Given the description of an element on the screen output the (x, y) to click on. 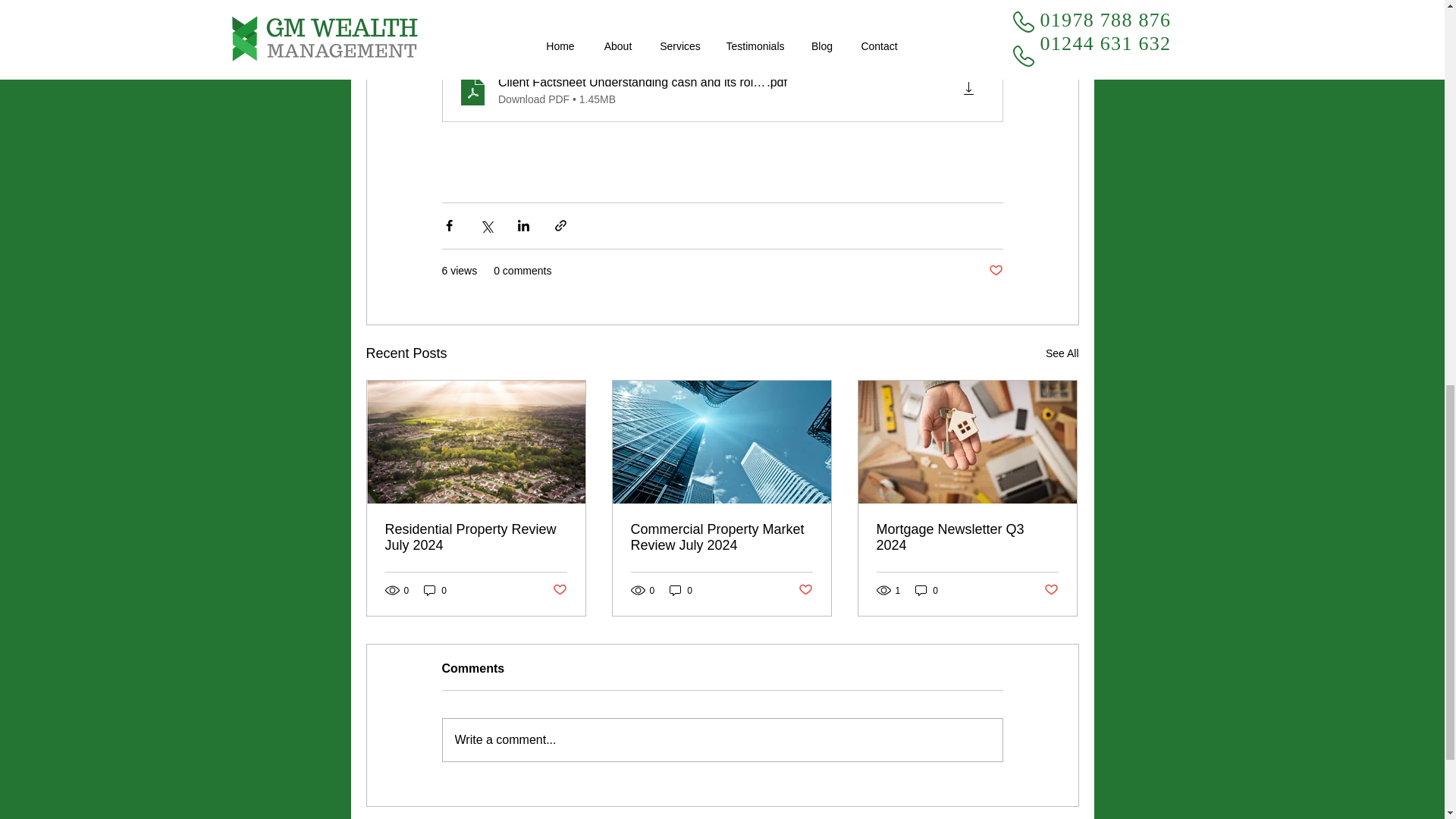
Post not marked as liked (804, 590)
See All (1061, 353)
Write a comment... (722, 740)
Commercial Property Market Review July 2024 (721, 537)
Residential Property Review July 2024 (476, 537)
Post not marked as liked (995, 270)
Mortgage Newsletter Q3 2024 (967, 537)
Post not marked as liked (1050, 590)
0 (681, 590)
Post not marked as liked (558, 590)
0 (926, 590)
0 (435, 590)
